Given the description of an element on the screen output the (x, y) to click on. 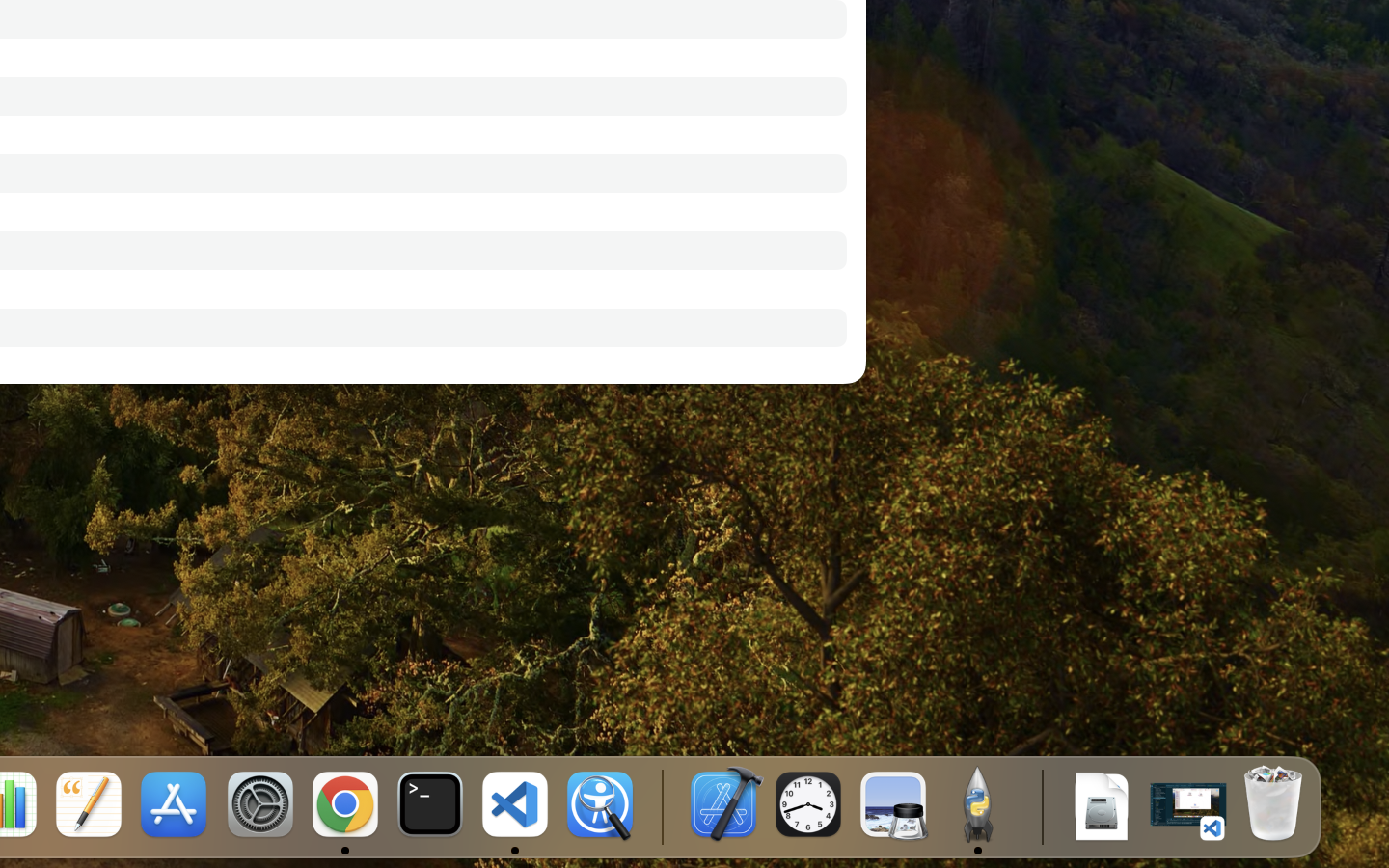
0.4285714328289032 Element type: AXDockItem (660, 805)
